Given the description of an element on the screen output the (x, y) to click on. 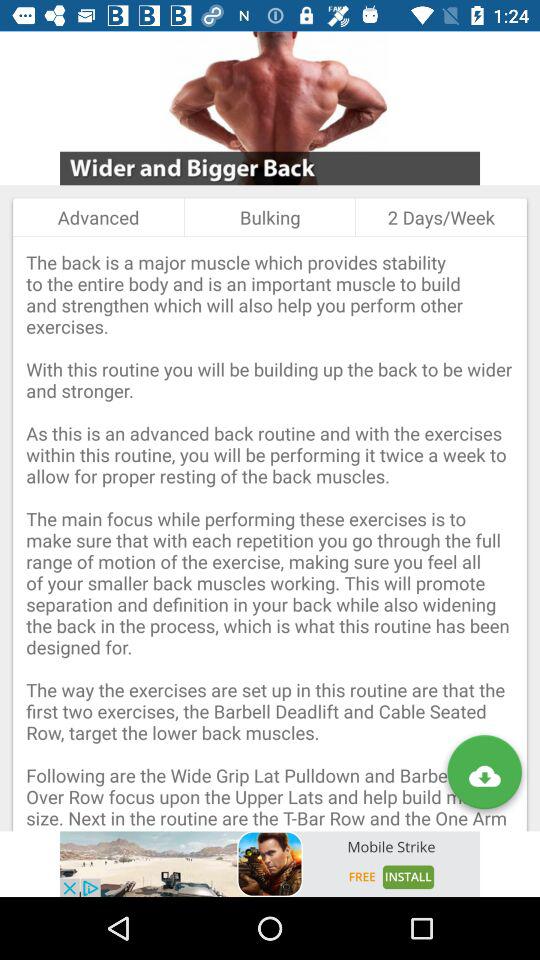
turn off the the back is at the center (269, 534)
